Given the description of an element on the screen output the (x, y) to click on. 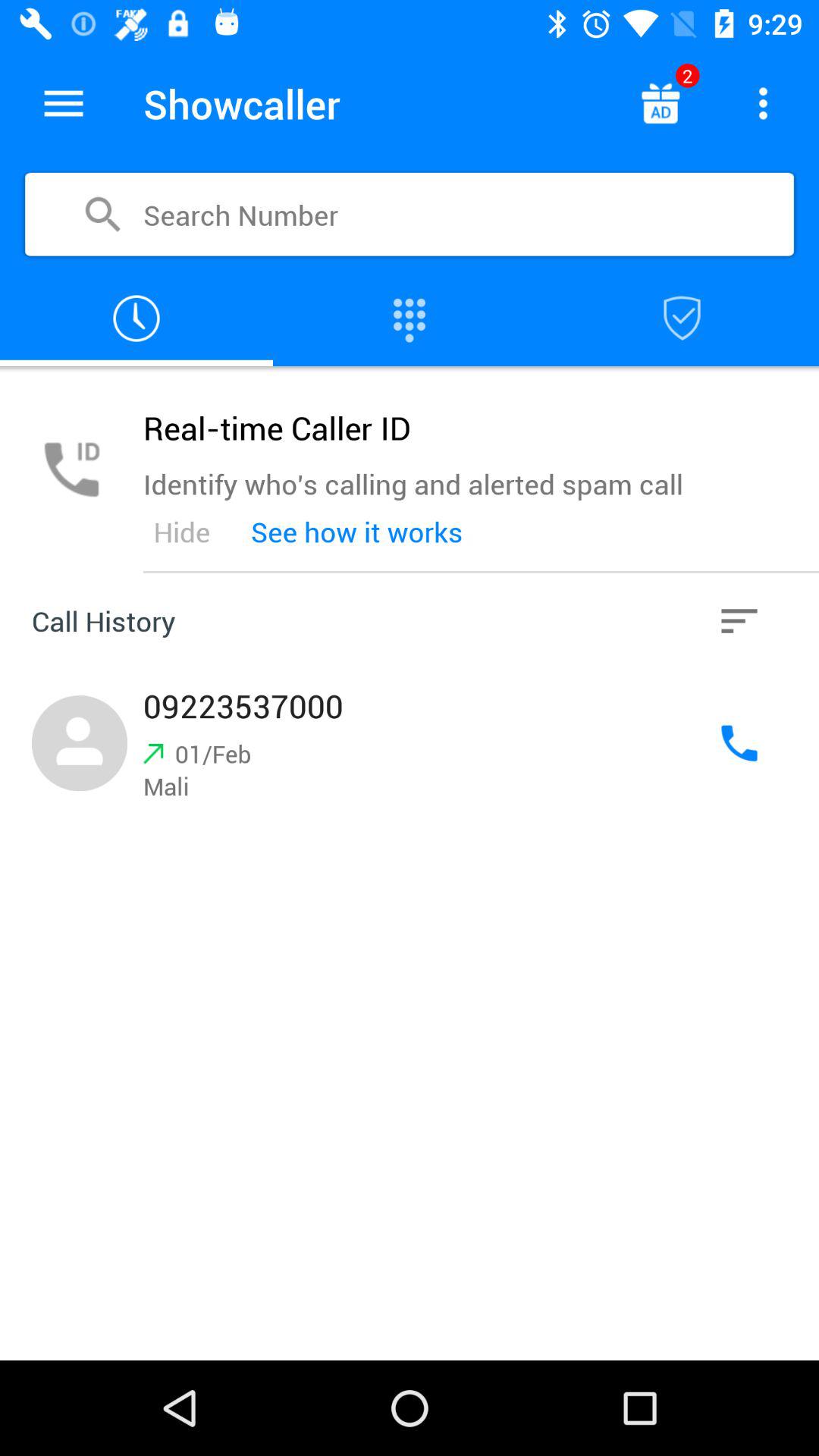
time for call (136, 318)
